Given the description of an element on the screen output the (x, y) to click on. 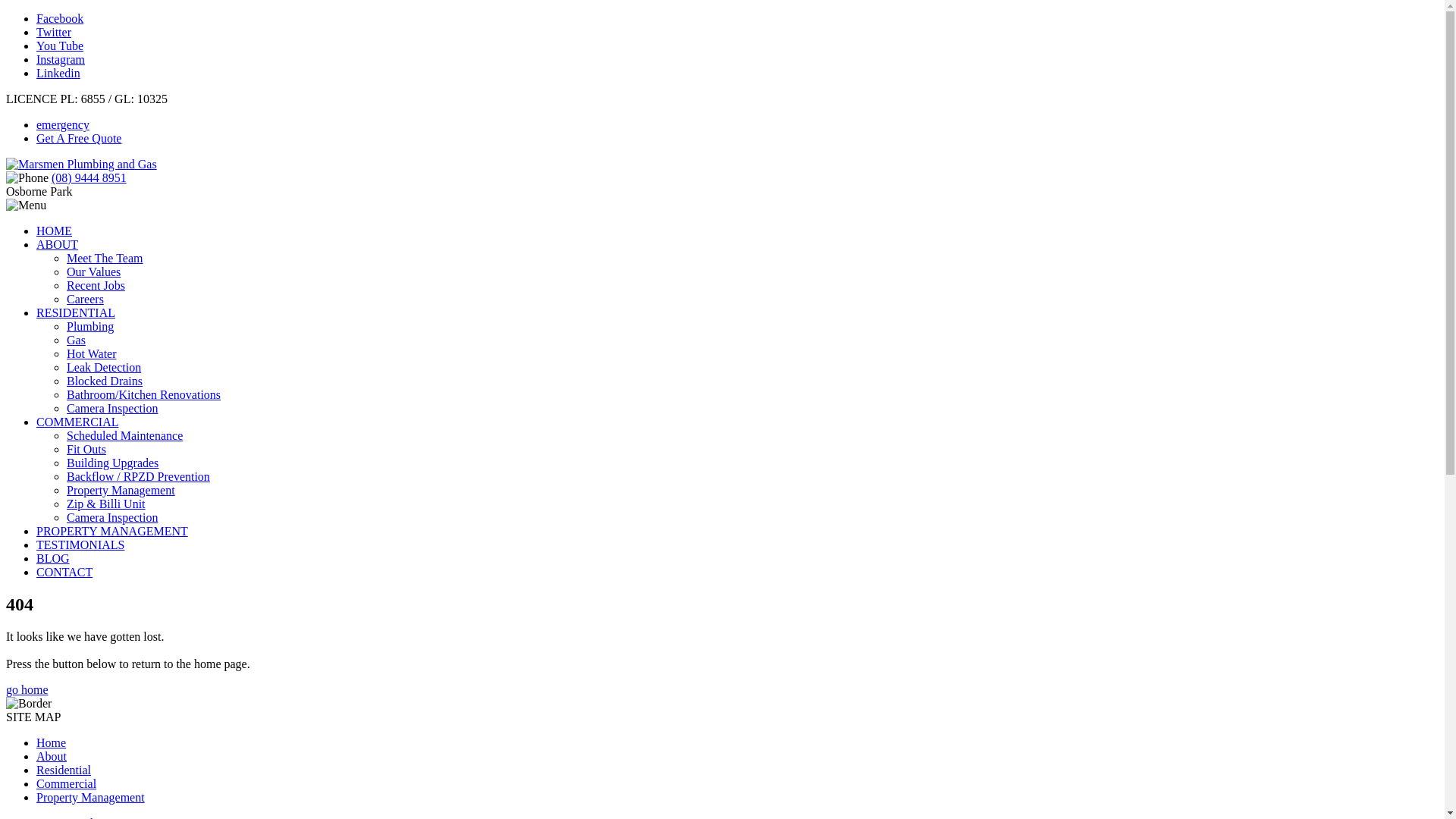
RESIDENTIAL Element type: text (75, 312)
BLOG Element type: text (52, 558)
Get A Free Quote Element type: text (78, 137)
Instagram Element type: text (60, 59)
emergency Element type: text (62, 124)
Zip & Billi Unit Element type: text (105, 503)
Leak Detection Element type: text (103, 366)
Commercial Element type: text (66, 783)
Backflow / RPZD Prevention Element type: text (138, 476)
go home Element type: text (27, 689)
Gas Element type: text (75, 339)
CONTACT Element type: text (64, 571)
ABOUT Element type: text (57, 244)
You Tube Element type: text (59, 45)
Phone Element type: hover (27, 178)
Fit Outs Element type: text (86, 448)
(08) 9444 8951 Element type: text (88, 177)
Scheduled Maintenance Element type: text (124, 435)
Property Management Element type: text (90, 796)
Linkedin Element type: text (58, 72)
COMMERCIAL Element type: text (77, 421)
Blocked Drains Element type: text (104, 380)
Twitter Element type: text (53, 31)
Building Upgrades Element type: text (112, 462)
Recent Jobs Element type: text (95, 285)
Property Management Element type: text (120, 489)
Marsmen Plumbing and Gas Element type: hover (81, 164)
Careers Element type: text (84, 298)
Camera Inspection Element type: text (111, 517)
Hot Water Element type: text (91, 353)
Our Values Element type: text (93, 271)
HOME Element type: text (54, 230)
Home Element type: text (50, 742)
Facebook Element type: text (59, 18)
Menu Element type: hover (26, 205)
PROPERTY MANAGEMENT Element type: text (112, 530)
Camera Inspection Element type: text (111, 407)
About Element type: text (51, 755)
TESTIMONIALS Element type: text (80, 544)
Plumbing Element type: text (89, 326)
Residential Element type: text (63, 769)
Meet The Team Element type: text (104, 257)
Border Element type: hover (28, 703)
Marsmen Plumbing and Gas Element type: hover (81, 163)
Bathroom/Kitchen Renovations Element type: text (143, 394)
